Given the description of an element on the screen output the (x, y) to click on. 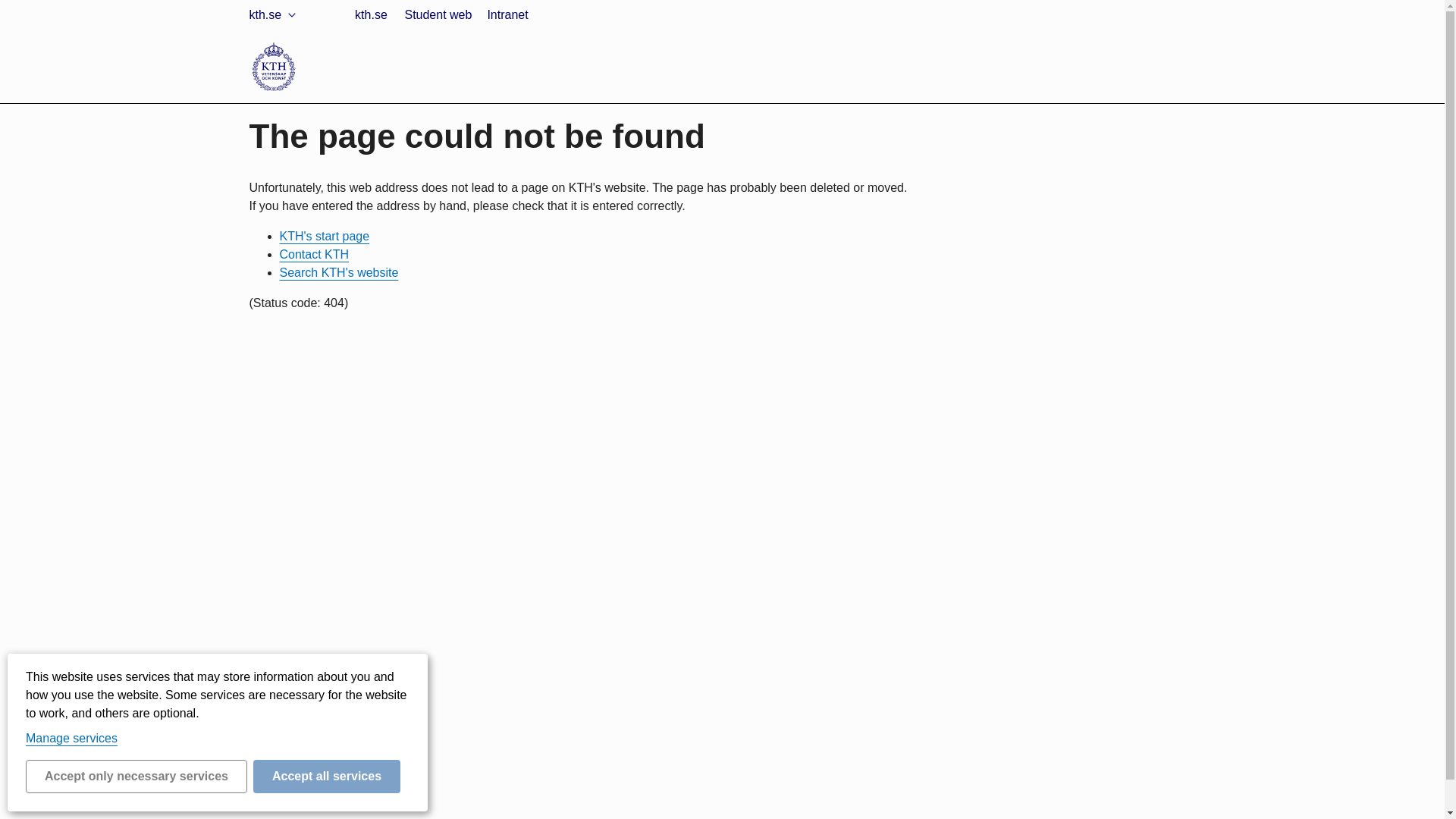
Manage services (71, 738)
Student web (437, 15)
kth.se (370, 15)
Accept all services (326, 776)
Accept only necessary services (136, 776)
Student web (312, 69)
Search KTH's website (338, 272)
Intranet (299, 87)
KTH's start page (324, 236)
Contact KTH (314, 254)
kth.se (273, 15)
Intranet (507, 15)
kth.se (295, 51)
